Given the description of an element on the screen output the (x, y) to click on. 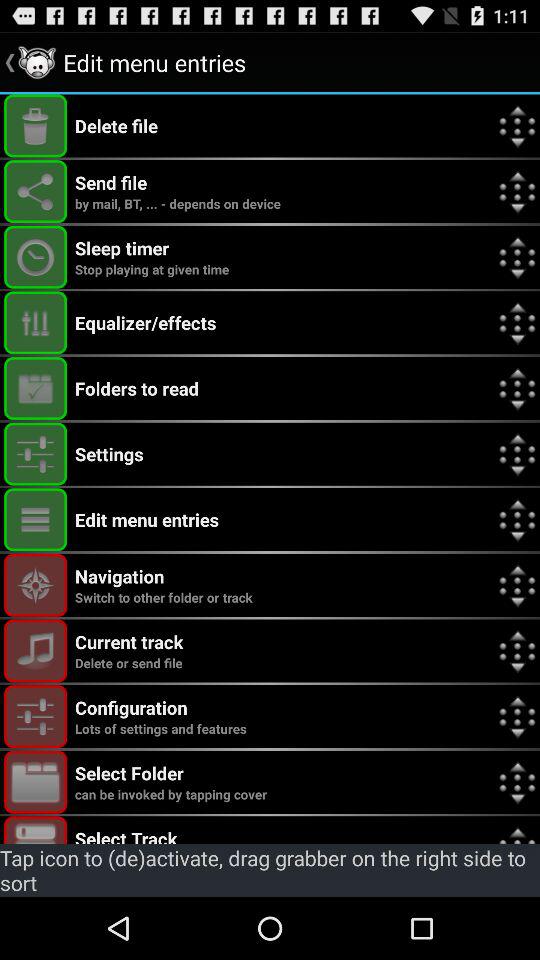
navigation menu (35, 584)
